Given the description of an element on the screen output the (x, y) to click on. 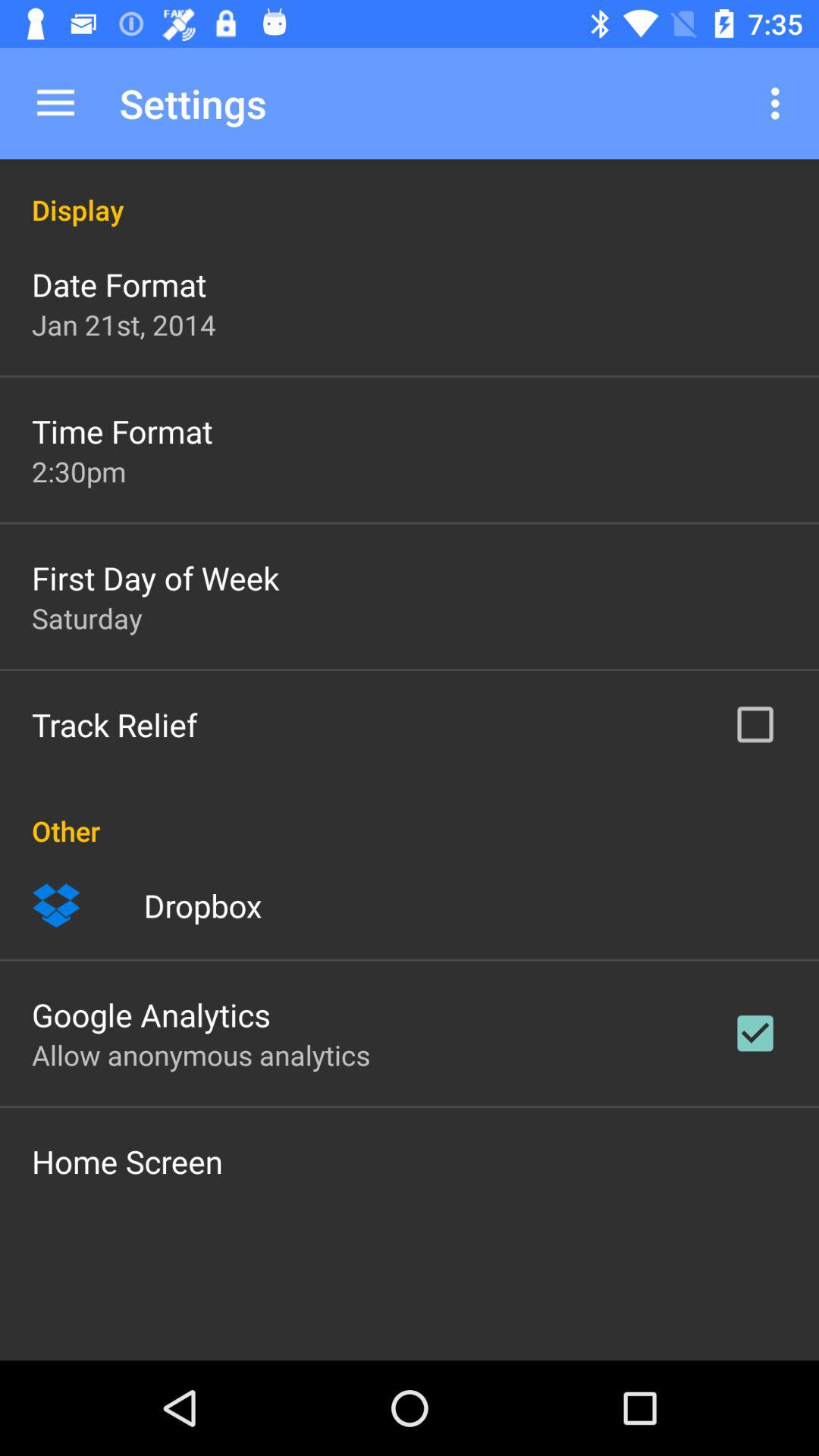
tap icon to the right of the settings item (779, 103)
